Given the description of an element on the screen output the (x, y) to click on. 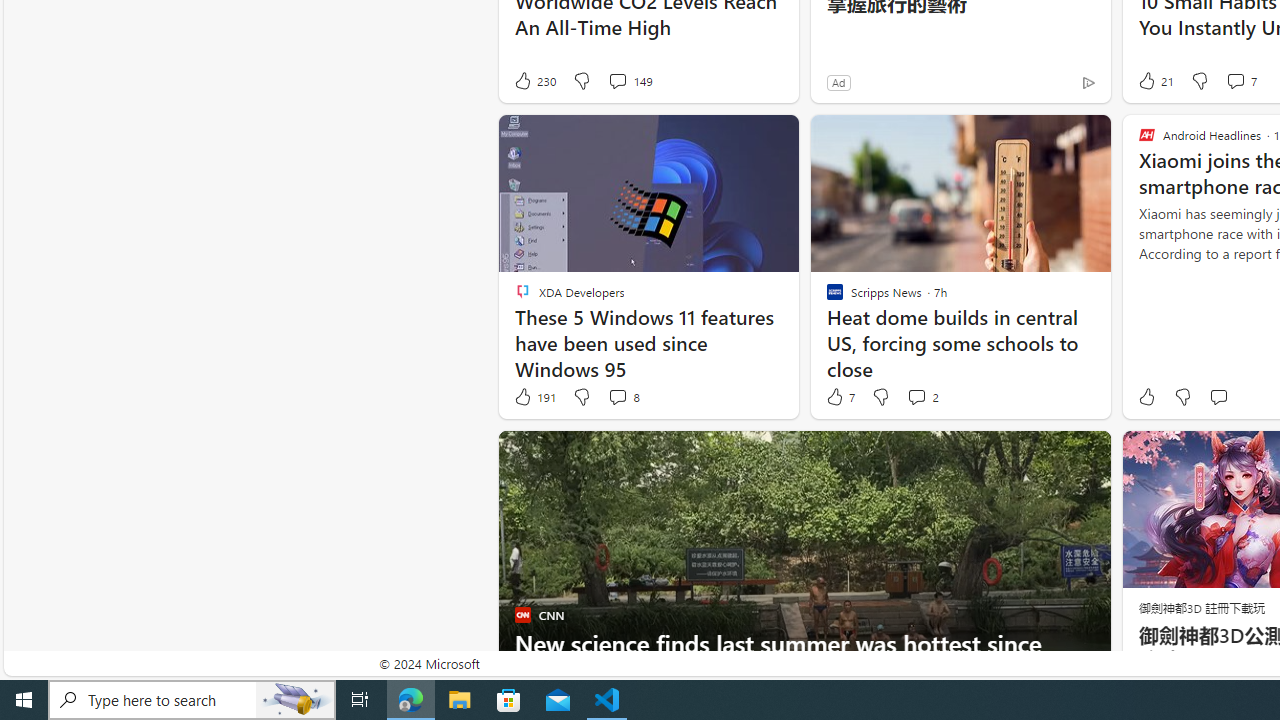
View comments 149 Comment (617, 80)
